Given the description of an element on the screen output the (x, y) to click on. 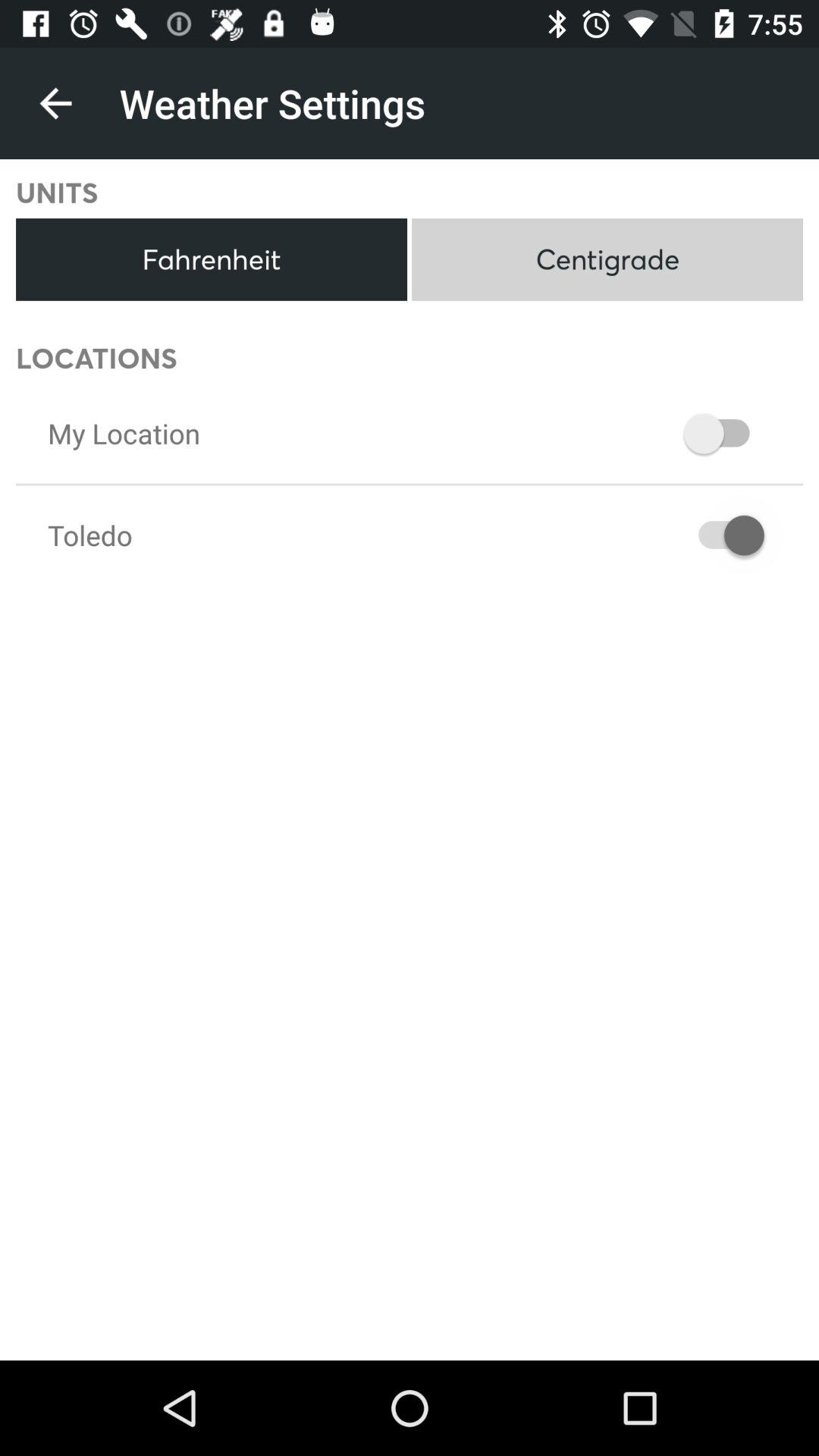
launch the item next to fahrenheit icon (607, 259)
